Given the description of an element on the screen output the (x, y) to click on. 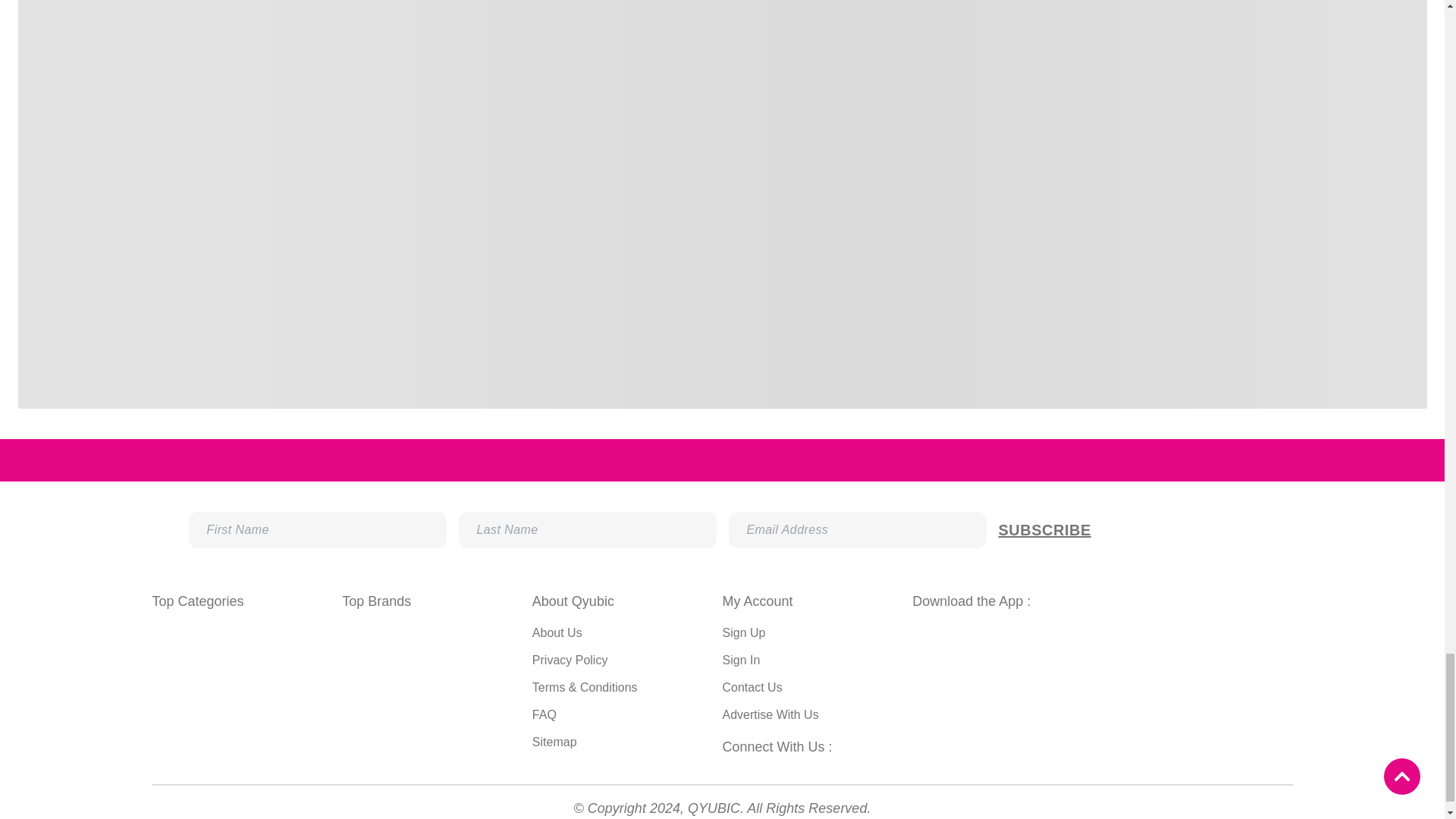
Privacy Policy (570, 659)
facebook icon (729, 770)
About Us (557, 632)
Sign In (741, 659)
Contact Us (751, 686)
google play store qr code (1004, 696)
twitter icon (790, 770)
qyubic logo (1242, 460)
FAQ (544, 714)
Advertise With Us (770, 714)
linkedin icon (820, 770)
Sitemap (554, 741)
Sign Up (743, 632)
apple app store qr code (1200, 699)
SUBSCRIBE (1126, 529)
